Given the description of an element on the screen output the (x, y) to click on. 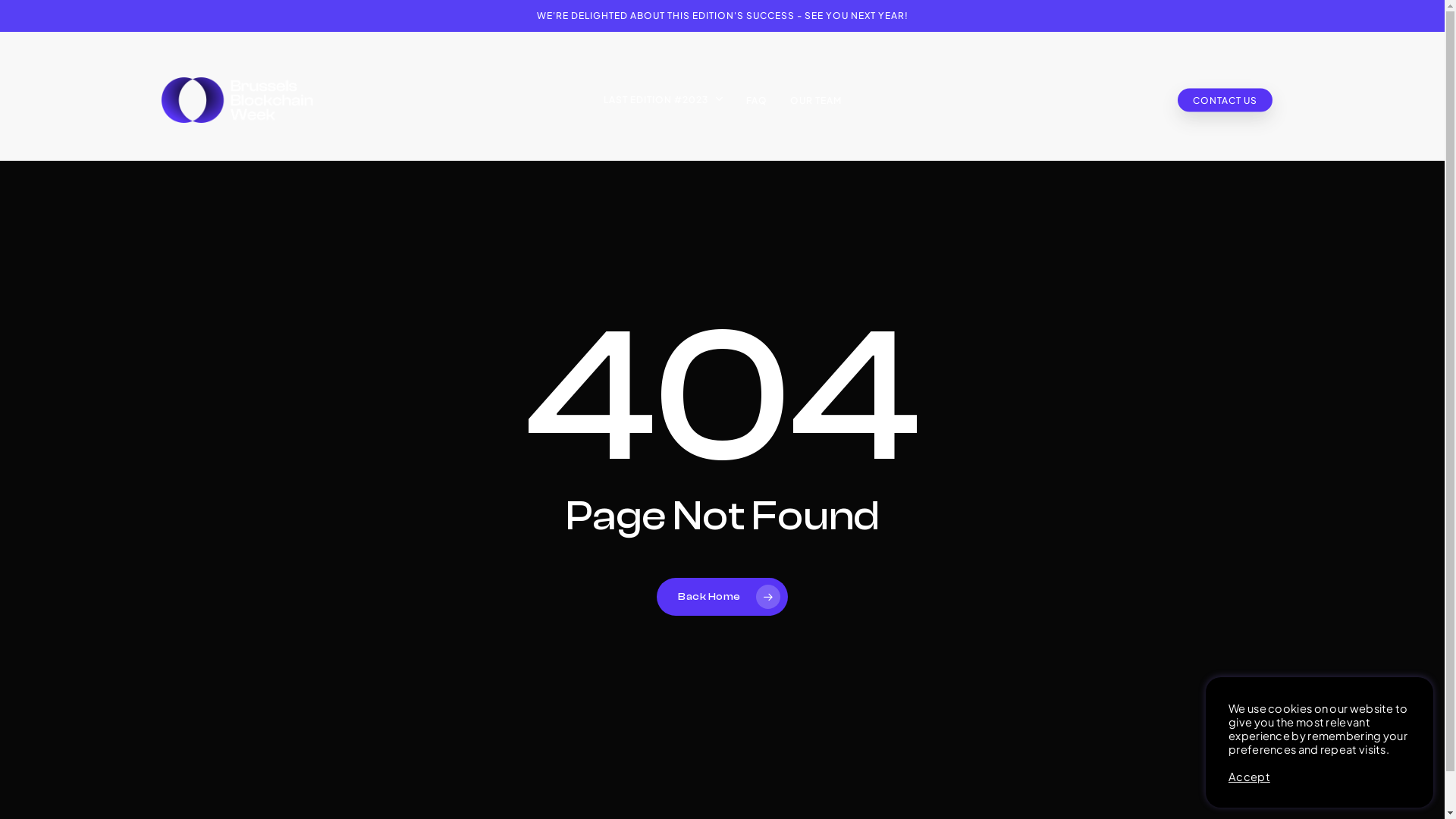
LAST EDITION #2023 Element type: text (662, 100)
Accept Element type: text (1249, 776)
FAQ Element type: text (756, 99)
CONTACT US Element type: text (1223, 99)
OUR TEAM Element type: text (815, 99)
Back Home Element type: text (721, 596)
